Given the description of an element on the screen output the (x, y) to click on. 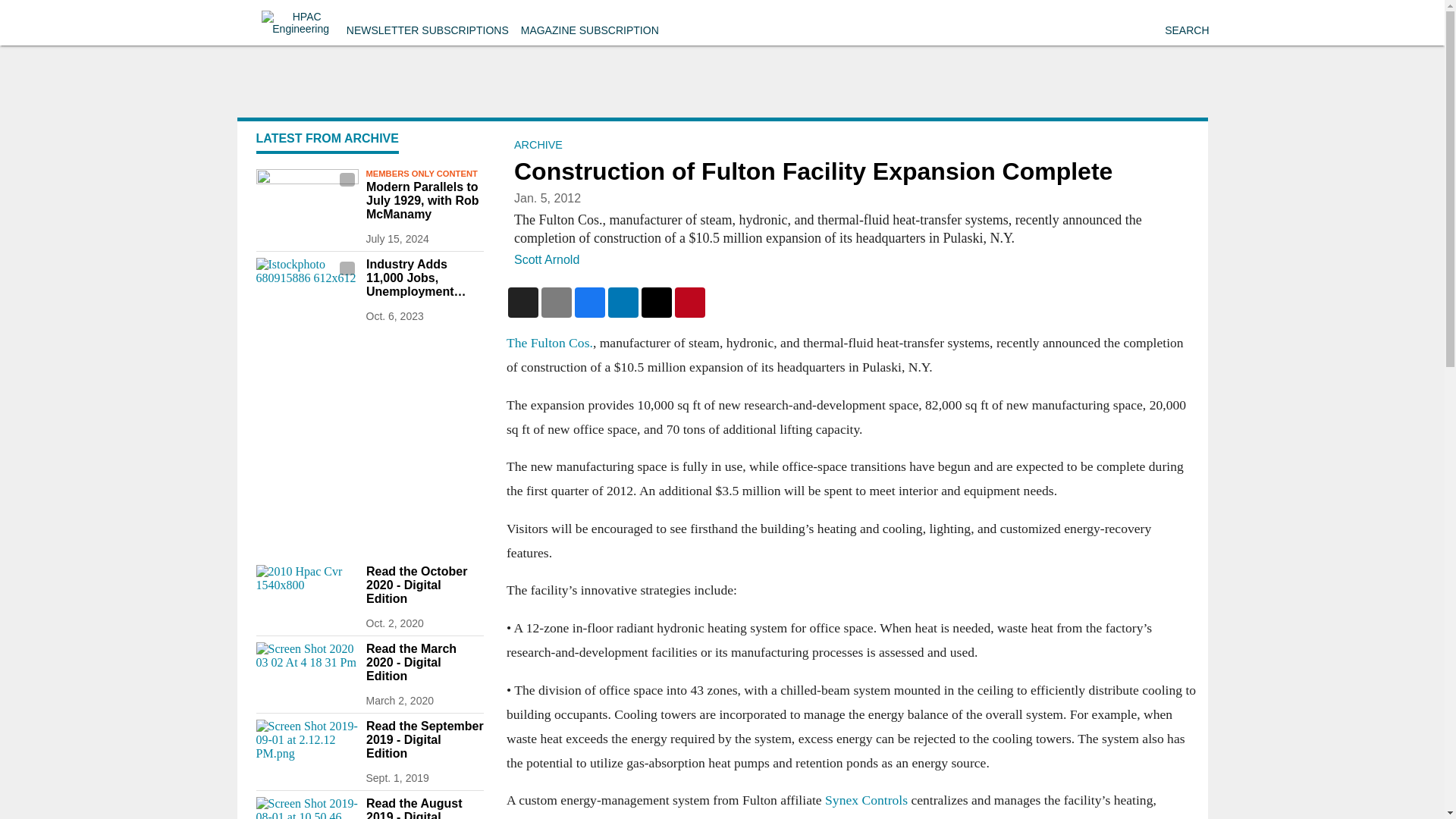
2010 Hpac Cvr 1540x800 (307, 593)
ARCHIVE (537, 144)
SEARCH (1186, 30)
Screen Shot 2019-09-01 at 2.12.12 PM.png (307, 747)
NEWSLETTER SUBSCRIPTIONS (427, 30)
Screen Shot 2020 03 02 At 4 18 31 Pm (307, 670)
Read the October 2020 - Digital Edition (424, 585)
Scott Arnold (546, 259)
Synex Controls (866, 799)
Industry Adds 11,000 Jobs, Unemployment Remains Low (424, 277)
